Given the description of an element on the screen output the (x, y) to click on. 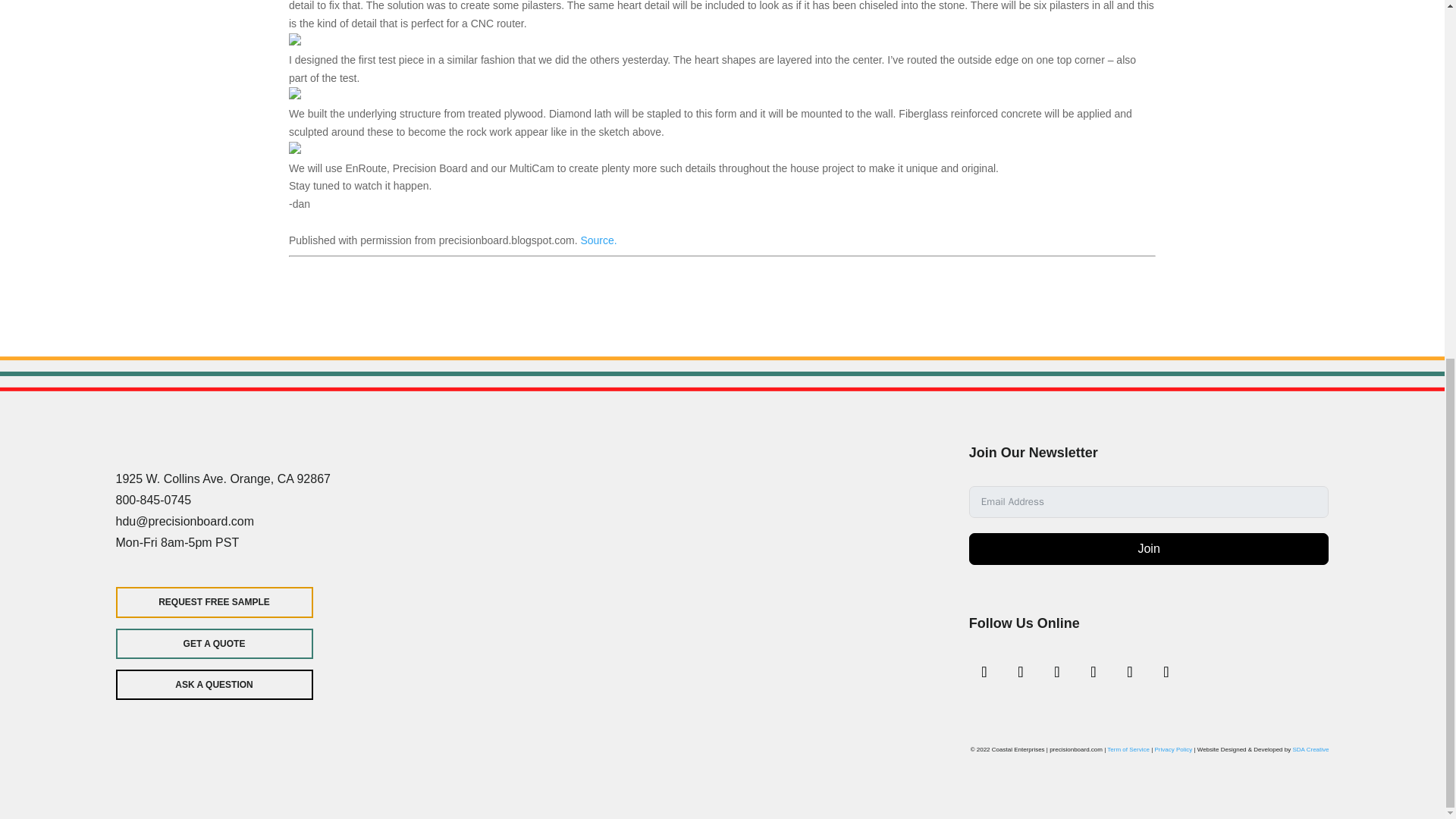
Follow on LinkedIn (1093, 671)
Follow on Instagram (1020, 671)
Follow on Youtube (1165, 671)
Follow on X (1056, 671)
Follow on Pinterest (1129, 671)
Follow on Facebook (983, 671)
